Given the description of an element on the screen output the (x, y) to click on. 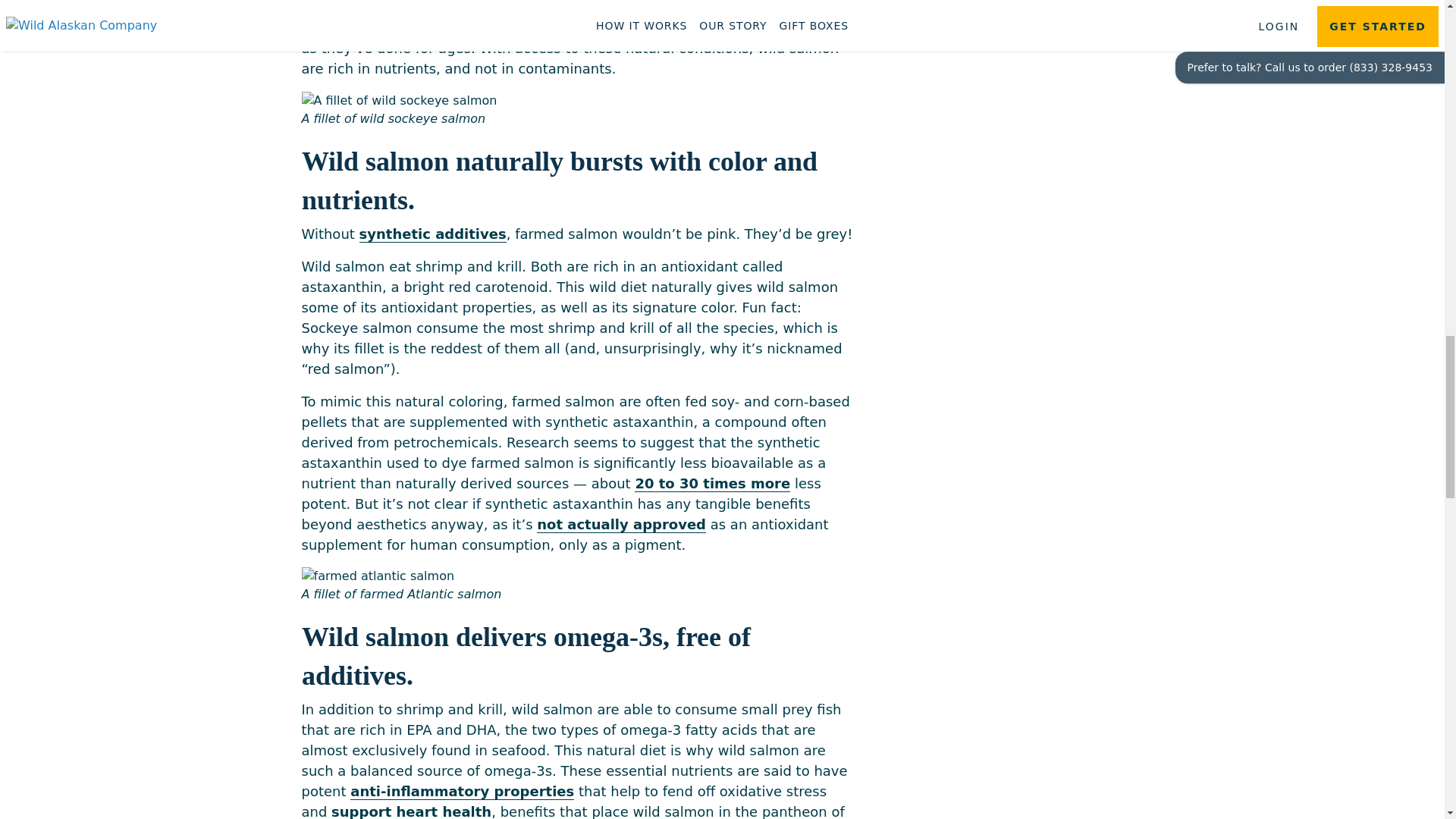
not actually approved (621, 524)
anti-inflammatory properties (461, 791)
20 to 30 times more (712, 483)
support heart health (411, 811)
synthetic additives (432, 234)
